Given the description of an element on the screen output the (x, y) to click on. 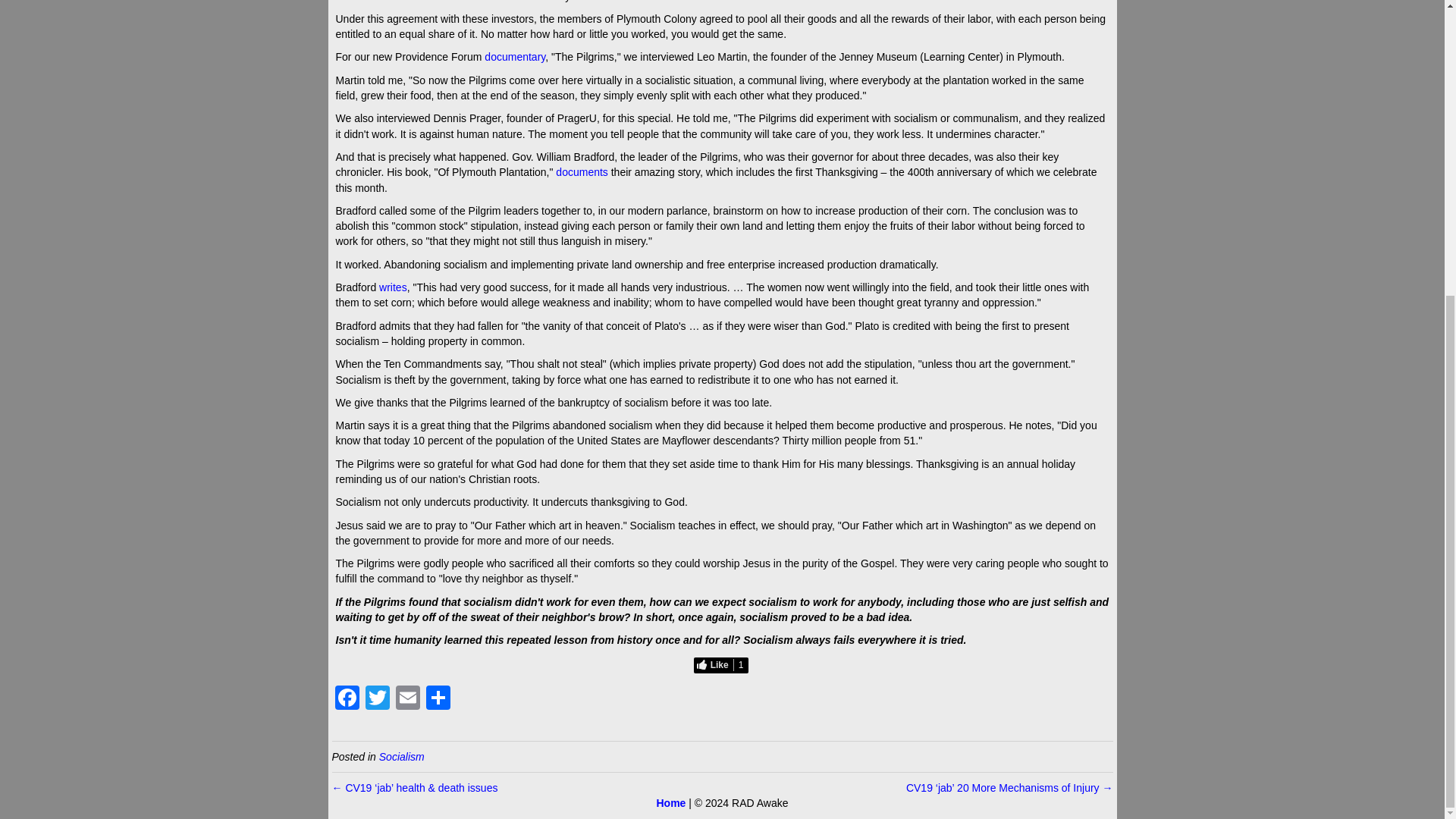
Email (408, 699)
Email (408, 699)
Home (670, 802)
writes (392, 287)
Facebook (346, 699)
Twitter (377, 699)
documentary (514, 56)
Socialism (401, 756)
Twitter (377, 699)
Facebook (346, 699)
documents (581, 172)
